Given the description of an element on the screen output the (x, y) to click on. 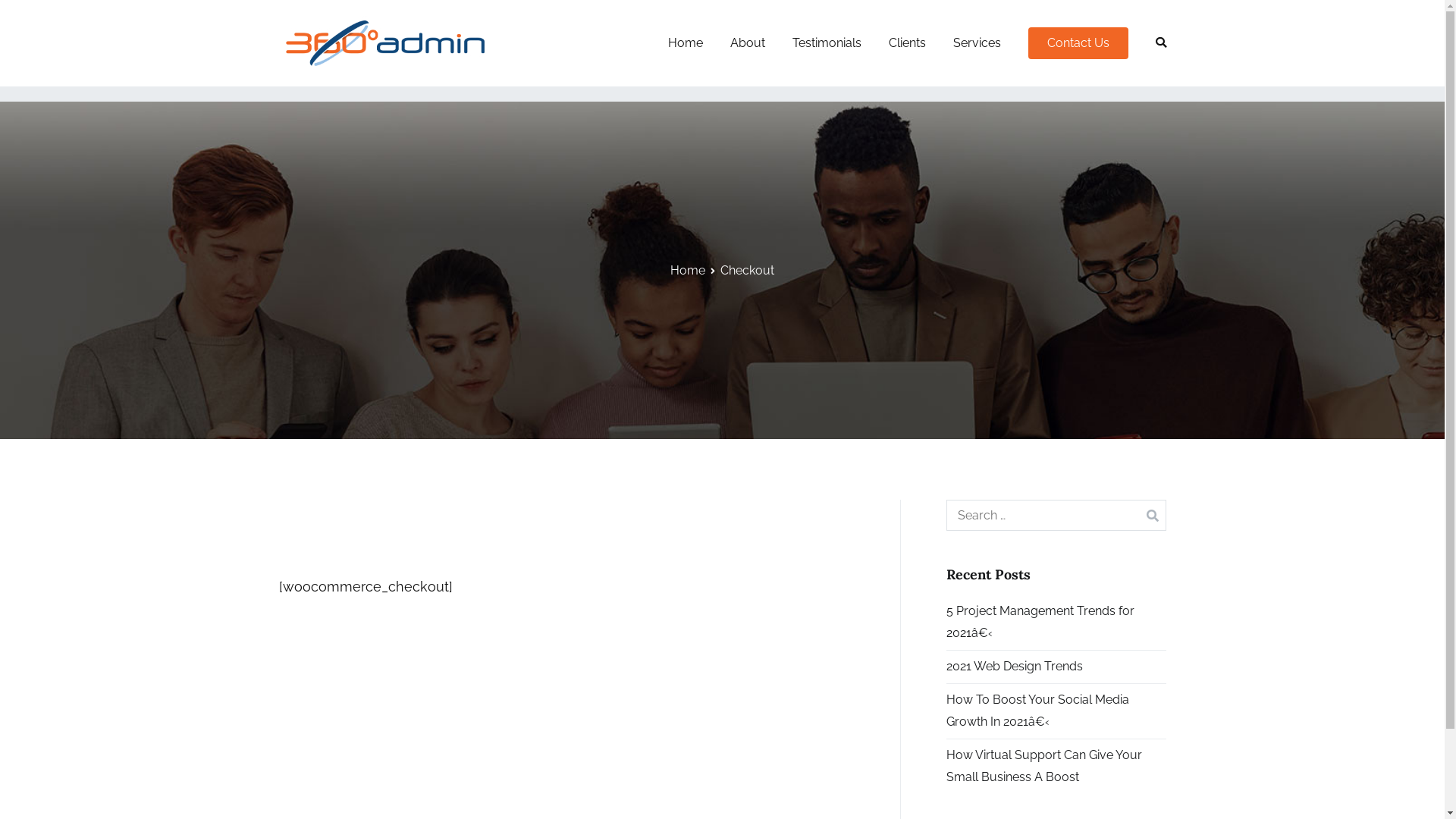
Search Element type: text (33, 15)
Home Element type: text (687, 270)
How Virtual Support Can Give Your Small Business A Boost Element type: text (1056, 766)
Clients Element type: text (906, 43)
About Element type: text (746, 43)
Contact Us Element type: text (1078, 43)
Services Element type: text (976, 43)
Testimonials Element type: text (825, 43)
Search Element type: text (30, 14)
Home Element type: text (684, 43)
2021 Web Design Trends Element type: text (1014, 666)
